Given the description of an element on the screen output the (x, y) to click on. 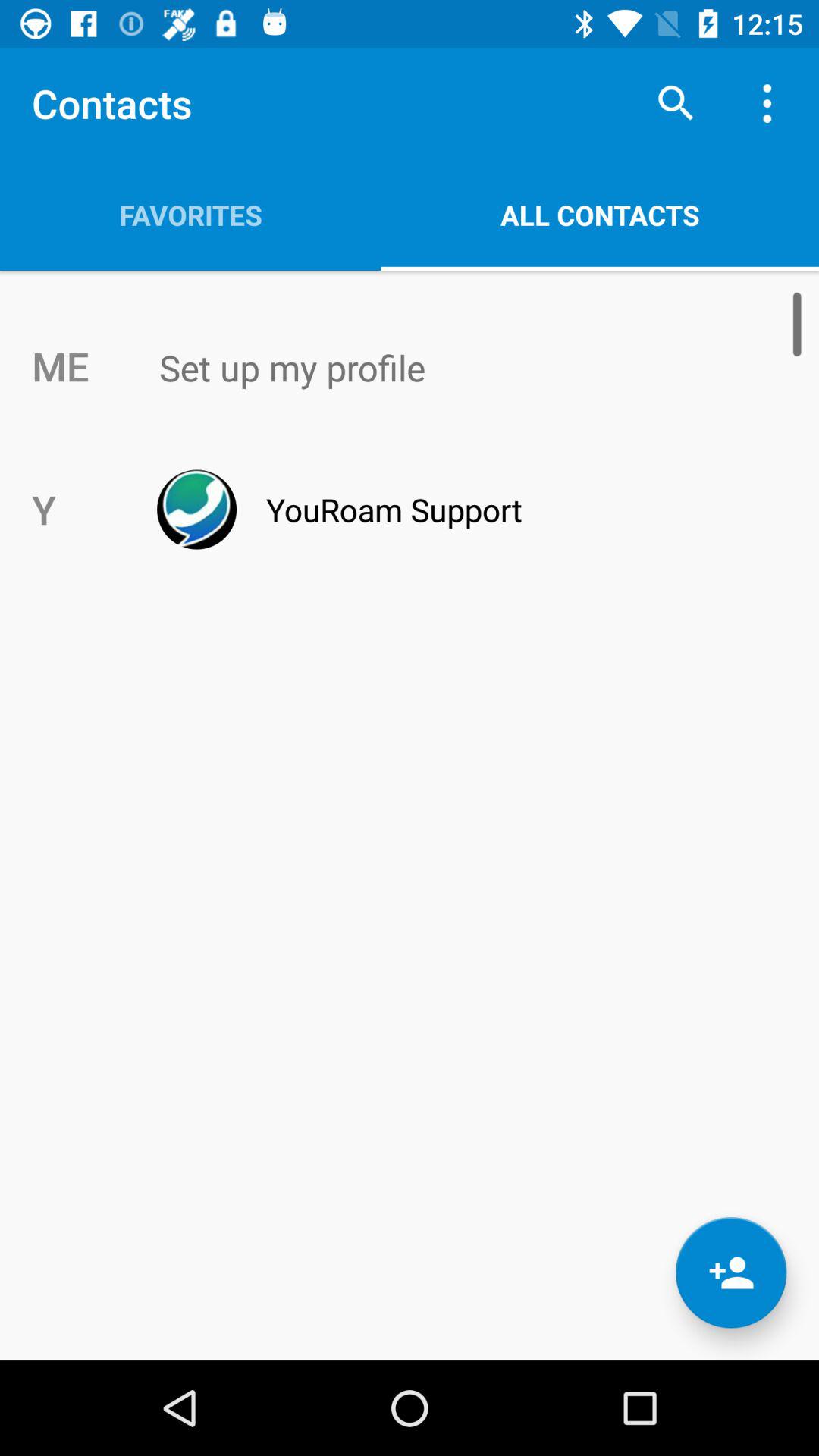
click the icon next to me (441, 367)
